Given the description of an element on the screen output the (x, y) to click on. 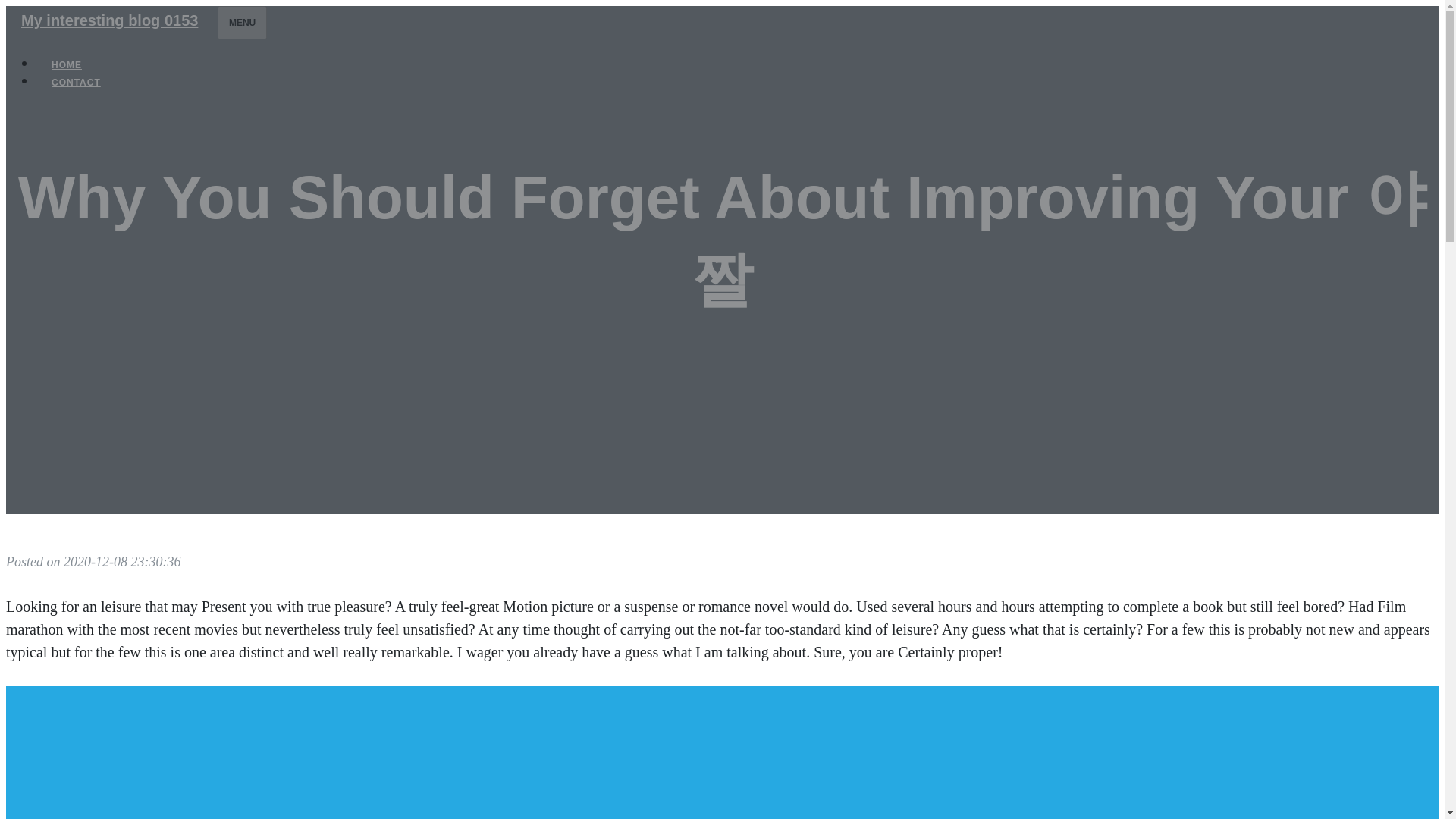
HOME (66, 64)
CONTACT (76, 82)
My interesting blog 0153 (108, 20)
MENU (241, 22)
